Given the description of an element on the screen output the (x, y) to click on. 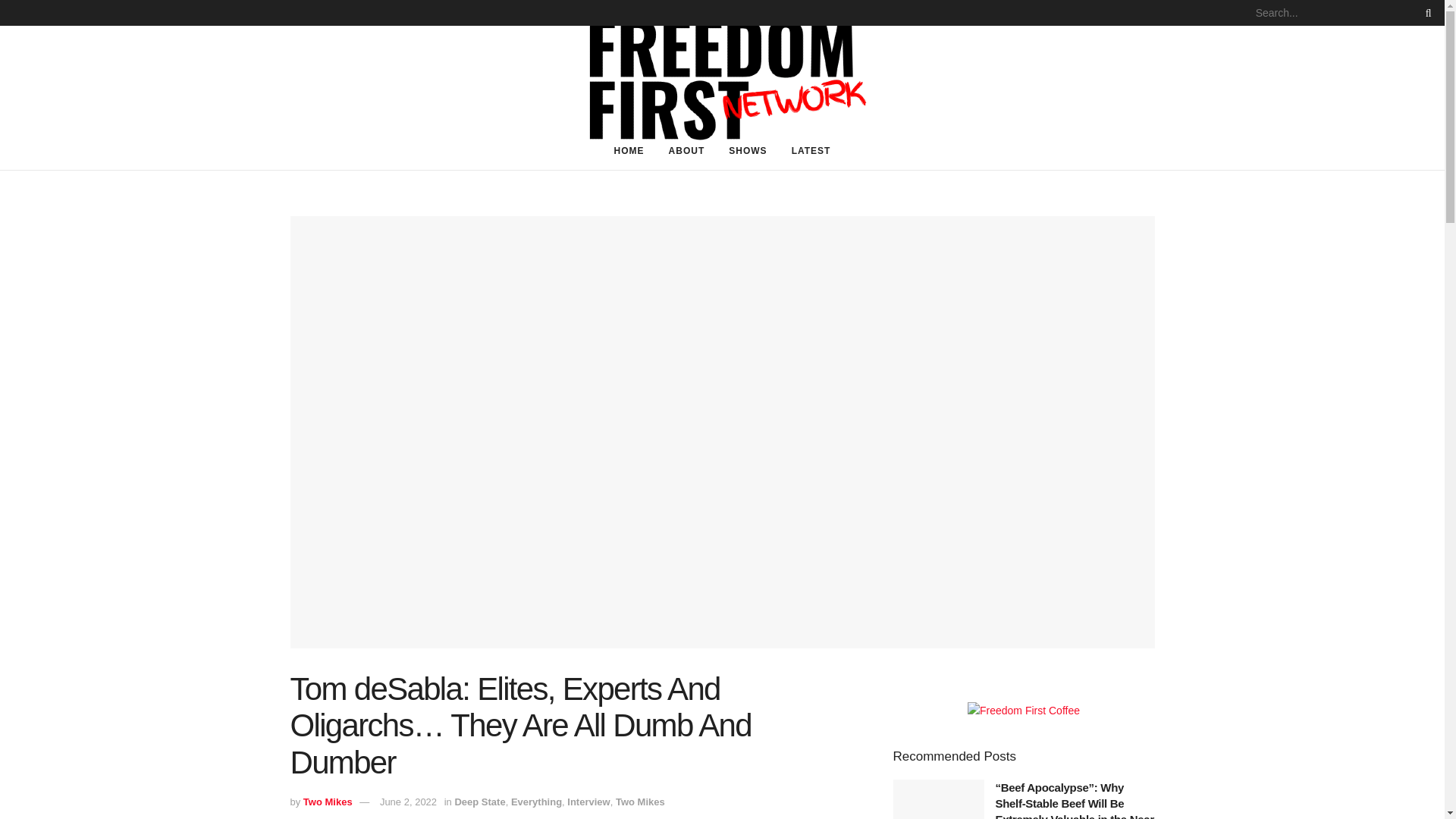
ABOUT (686, 150)
Two Mikes (327, 801)
June 2, 2022 (408, 801)
Deep State (479, 801)
LATEST (810, 150)
Two Mikes (640, 801)
Everything (536, 801)
HOME (629, 150)
Interview (588, 801)
SHOWS (747, 150)
